Given the description of an element on the screen output the (x, y) to click on. 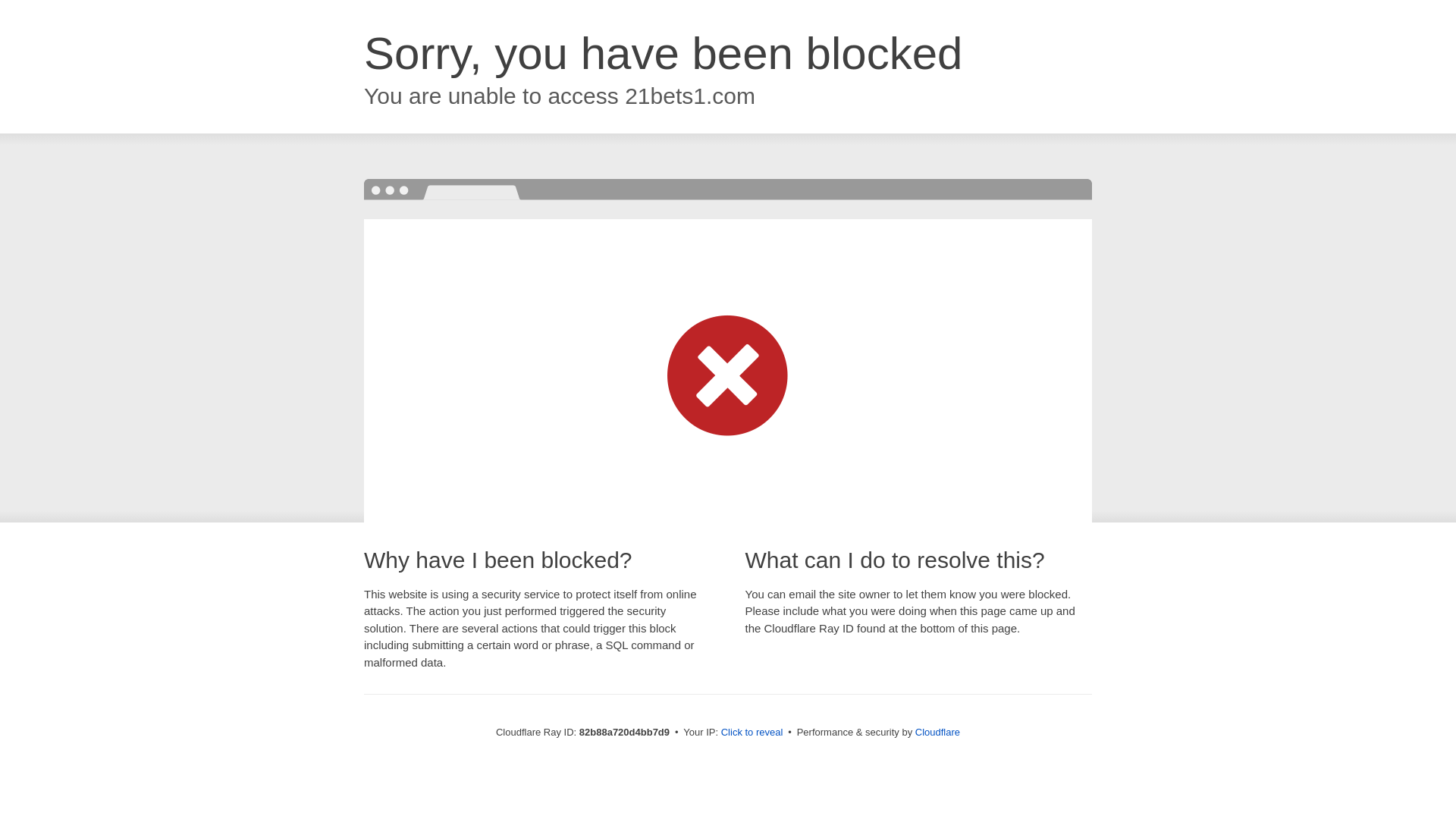
Click to reveal Element type: text (752, 732)
Cloudflare Element type: text (937, 731)
